Given the description of an element on the screen output the (x, y) to click on. 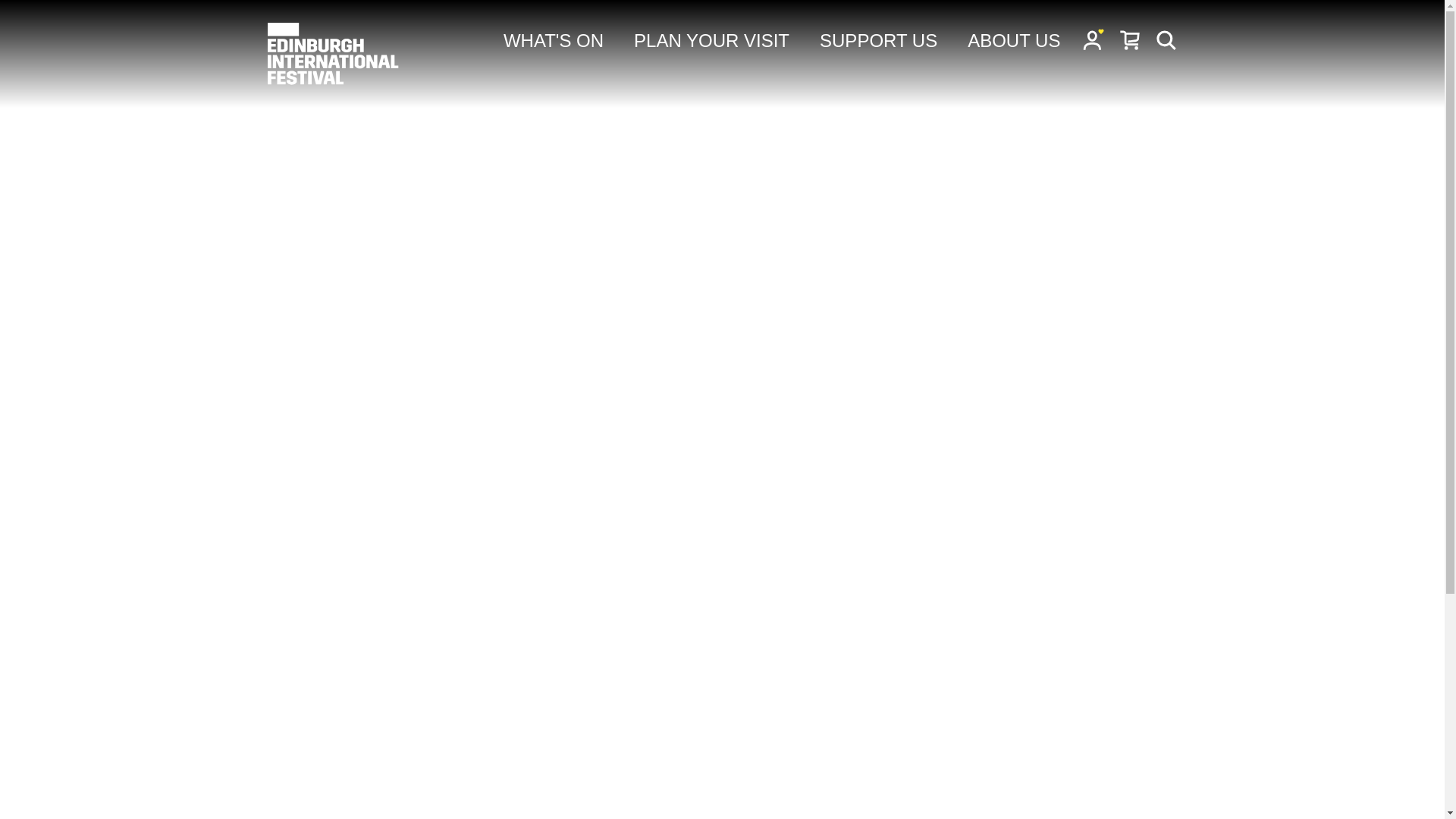
Basket (1129, 38)
Search (1166, 38)
ABOUT US (1013, 41)
EDINBURGH INTERNATIONAL FESTIVAL (332, 53)
SUPPORT US (878, 41)
Account (1093, 38)
WHAT'S ON (553, 41)
PLAN YOUR VISIT (711, 41)
